Given the description of an element on the screen output the (x, y) to click on. 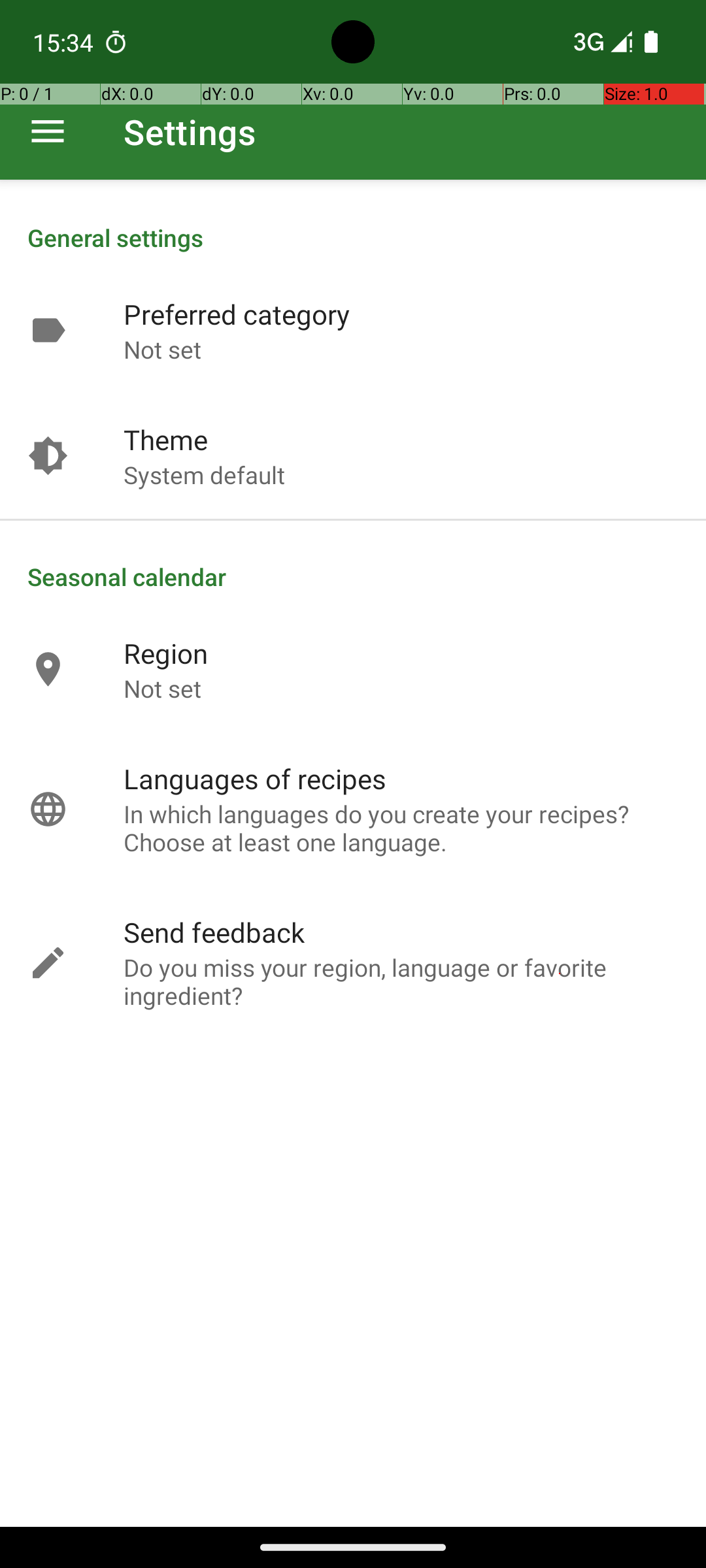
General settings Element type: android.widget.TextView (352, 237)
Preferred category Element type: android.widget.TextView (236, 313)
Not set Element type: android.widget.TextView (162, 348)
Region Element type: android.widget.TextView (165, 652)
Languages of recipes Element type: android.widget.TextView (254, 778)
In which languages do you create your recipes? Choose at least one language. Element type: android.widget.TextView (400, 827)
Do you miss your region, language or favorite ingredient? Element type: android.widget.TextView (400, 981)
